Given the description of an element on the screen output the (x, y) to click on. 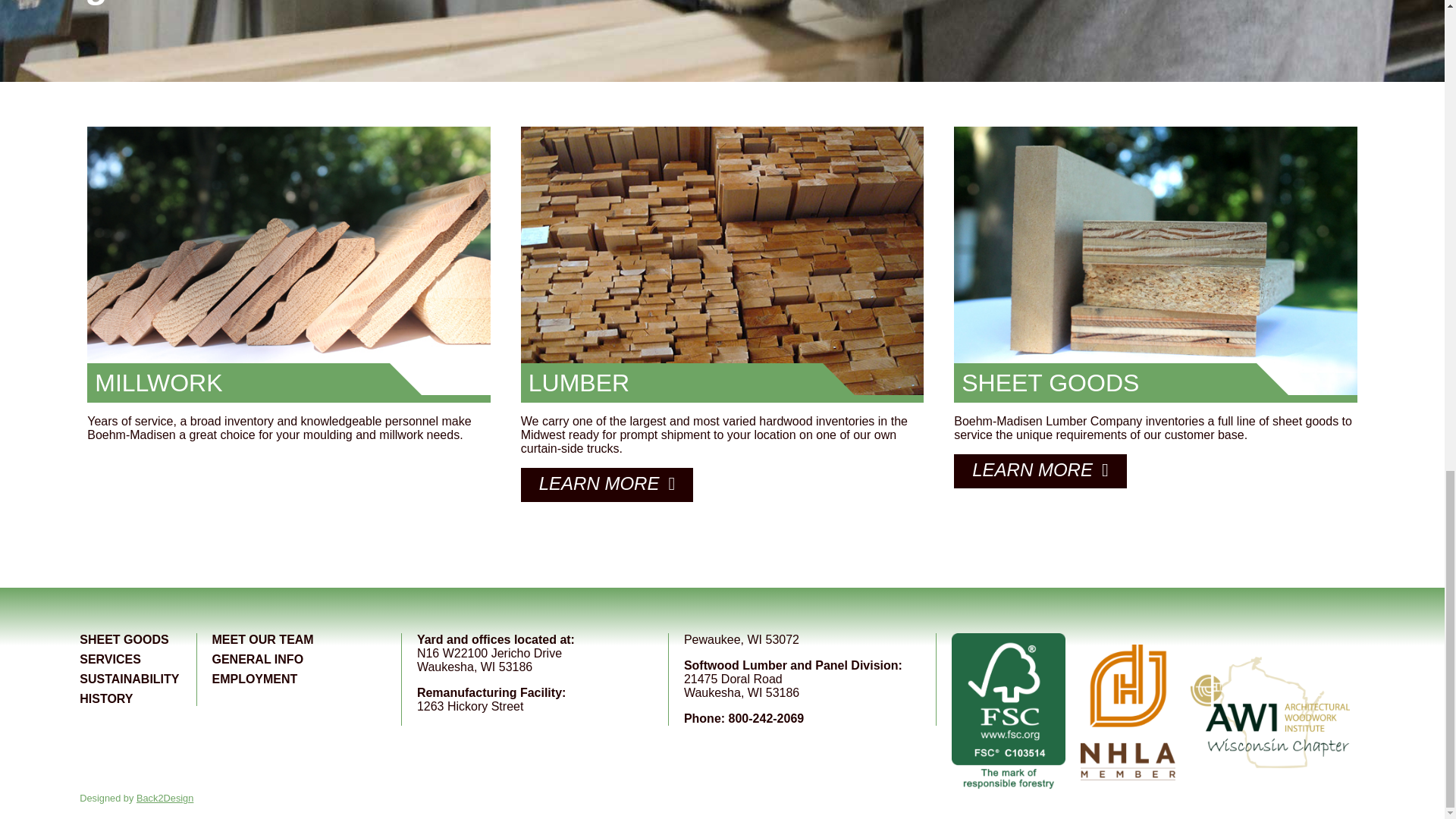
SHEET GOODS (124, 639)
SERVICES (110, 658)
SUSTAINABILITY (129, 678)
MEET OUR TEAM (262, 639)
LEARN MORE (1039, 471)
LUMBER (722, 264)
HISTORY (106, 698)
LEARN MORE (607, 484)
GENERAL INFO (256, 658)
SHEET GOODS (1154, 264)
